Given the description of an element on the screen output the (x, y) to click on. 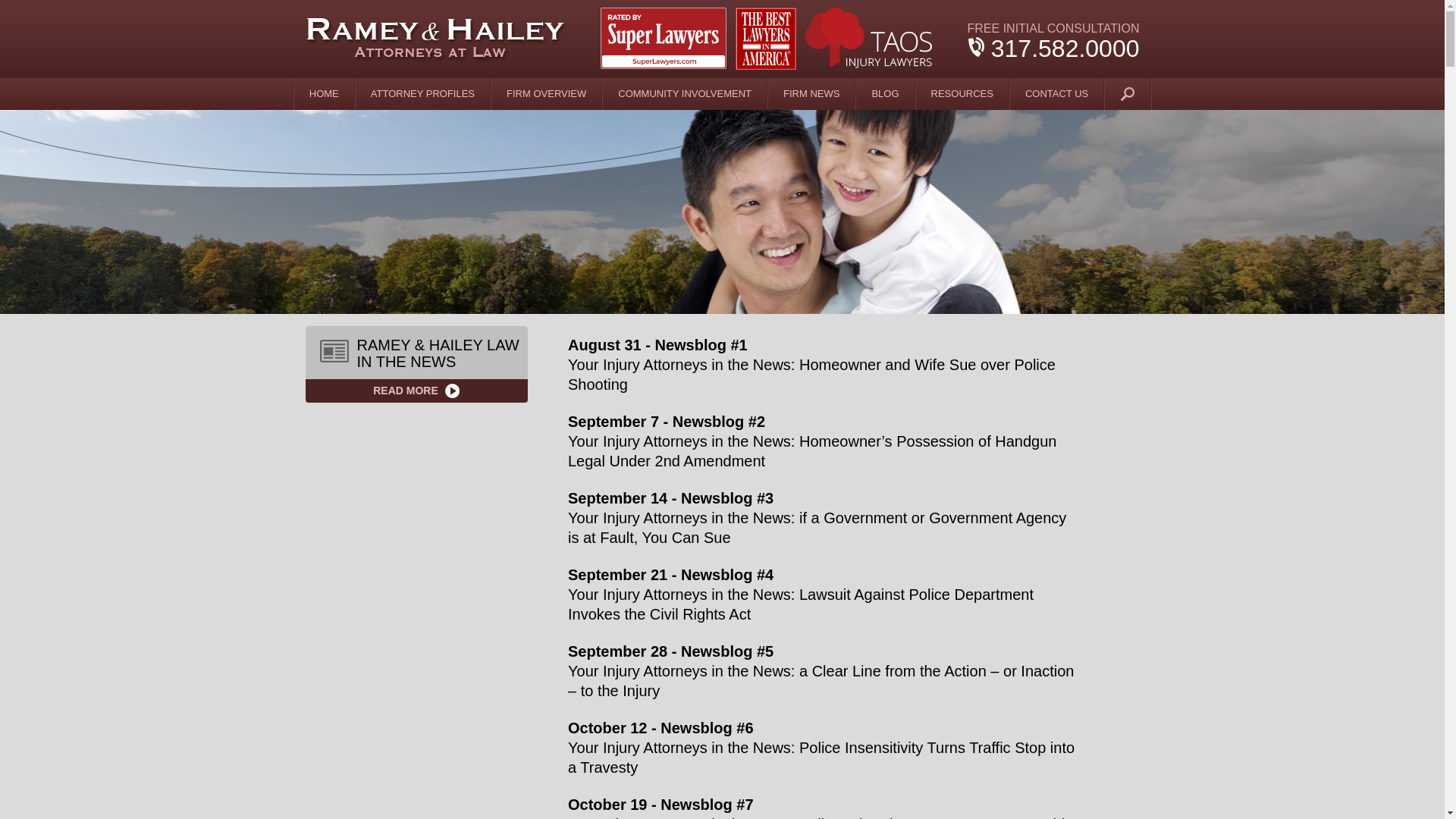
FIRM NEWS (812, 93)
ATTORNEY PROFILES (422, 93)
COMMUNITY INVOLVEMENT (684, 93)
RESOURCES (962, 93)
BLOG (885, 93)
FIRM OVERVIEW (547, 93)
HOME (324, 93)
CONTACT US (1056, 93)
